Given the description of an element on the screen output the (x, y) to click on. 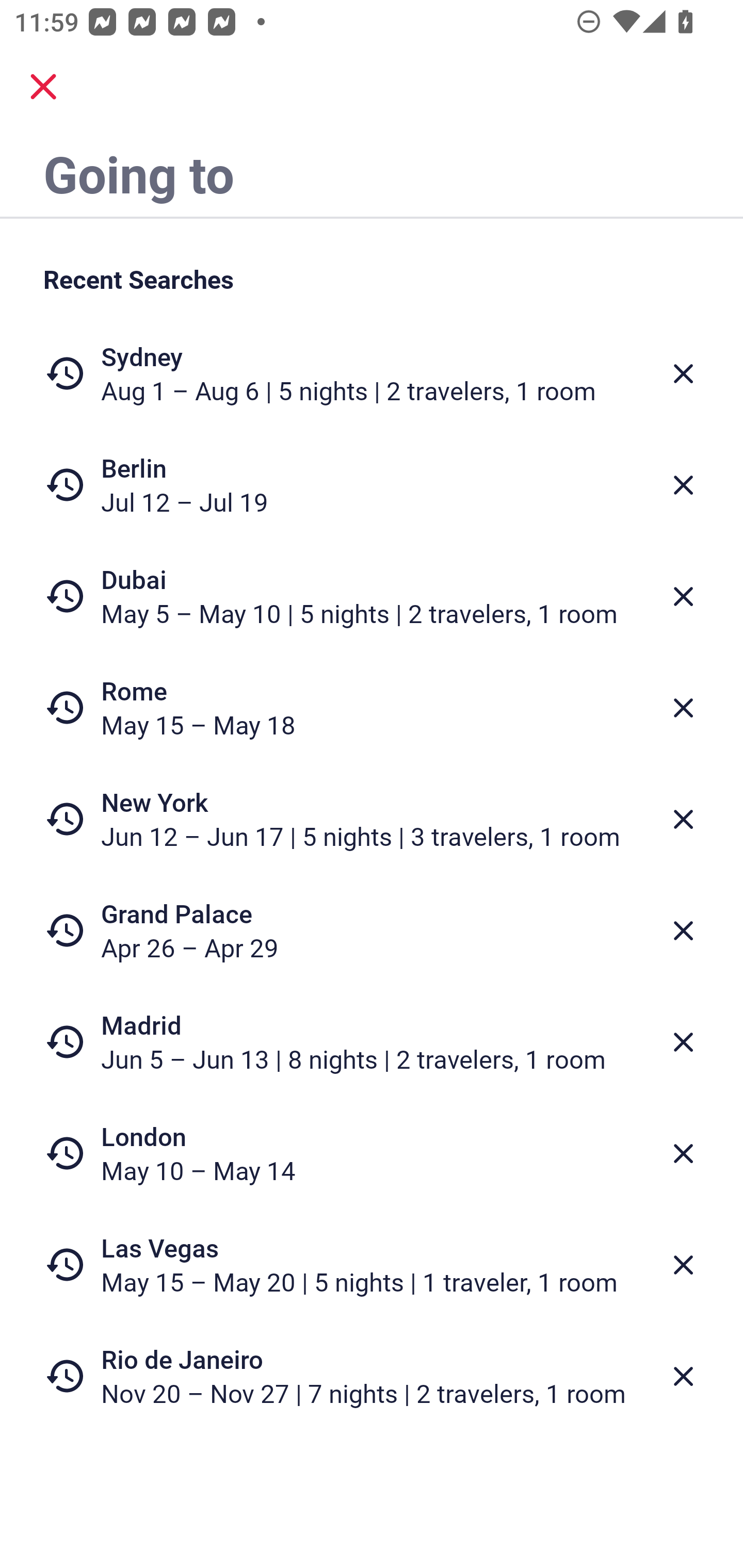
close. (43, 86)
Delete from recent searches (683, 373)
Berlin Jul 12 – Jul 19 (371, 484)
Delete from recent searches (683, 485)
Delete from recent searches (683, 596)
Rome May 15 – May 18 (371, 707)
Delete from recent searches (683, 707)
Delete from recent searches (683, 819)
Grand Palace Apr 26 – Apr 29 (371, 930)
Delete from recent searches (683, 930)
Delete from recent searches (683, 1041)
London May 10 – May 14 (371, 1152)
Delete from recent searches (683, 1153)
Delete from recent searches (683, 1265)
Delete from recent searches (683, 1376)
